Given the description of an element on the screen output the (x, y) to click on. 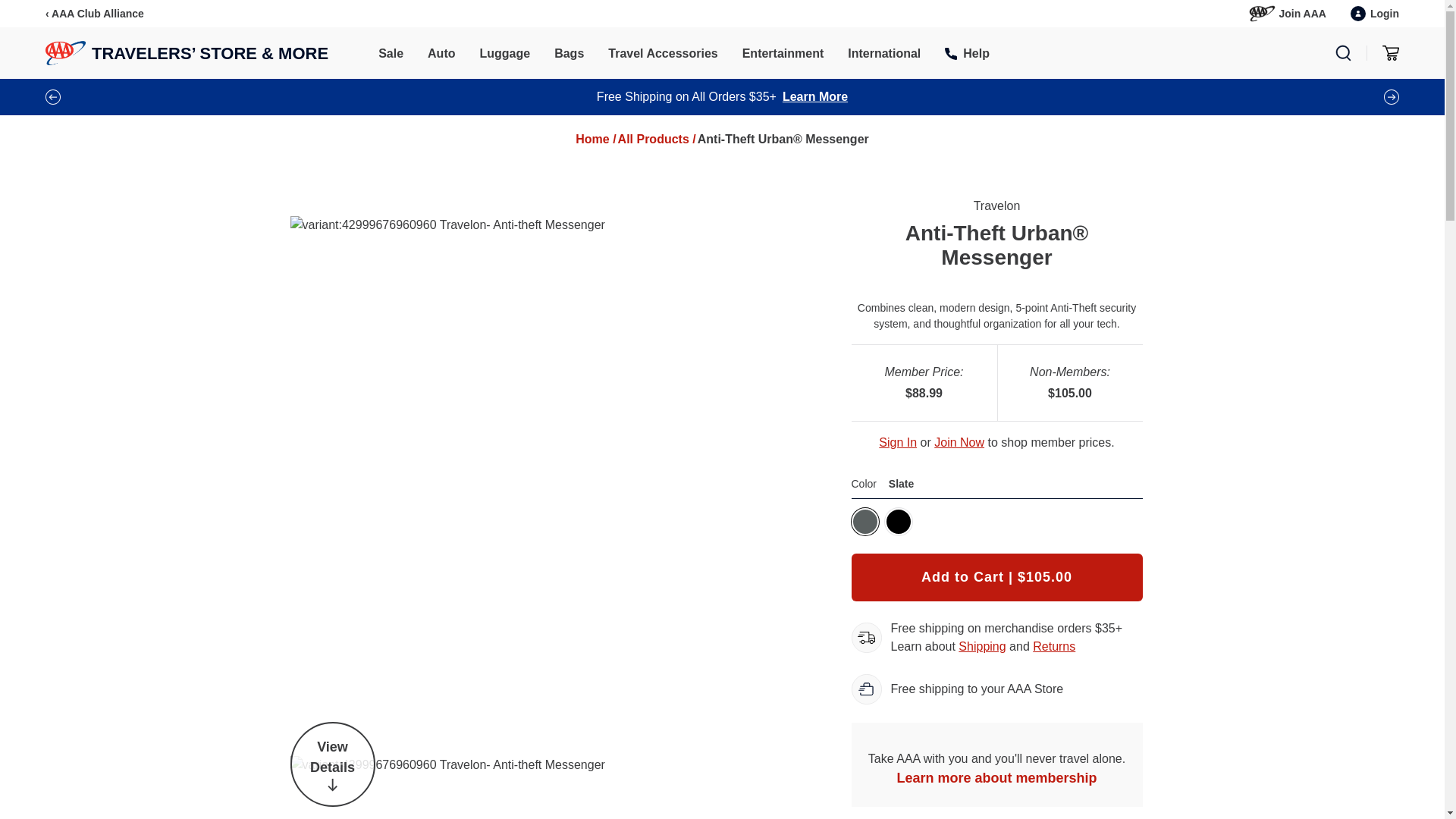
Login (1375, 13)
entertainment (783, 55)
sale (390, 55)
Login (1375, 13)
bags (568, 55)
Luggage (504, 55)
auto (441, 55)
Sale (390, 55)
Auto (441, 55)
international (883, 55)
